Given the description of an element on the screen output the (x, y) to click on. 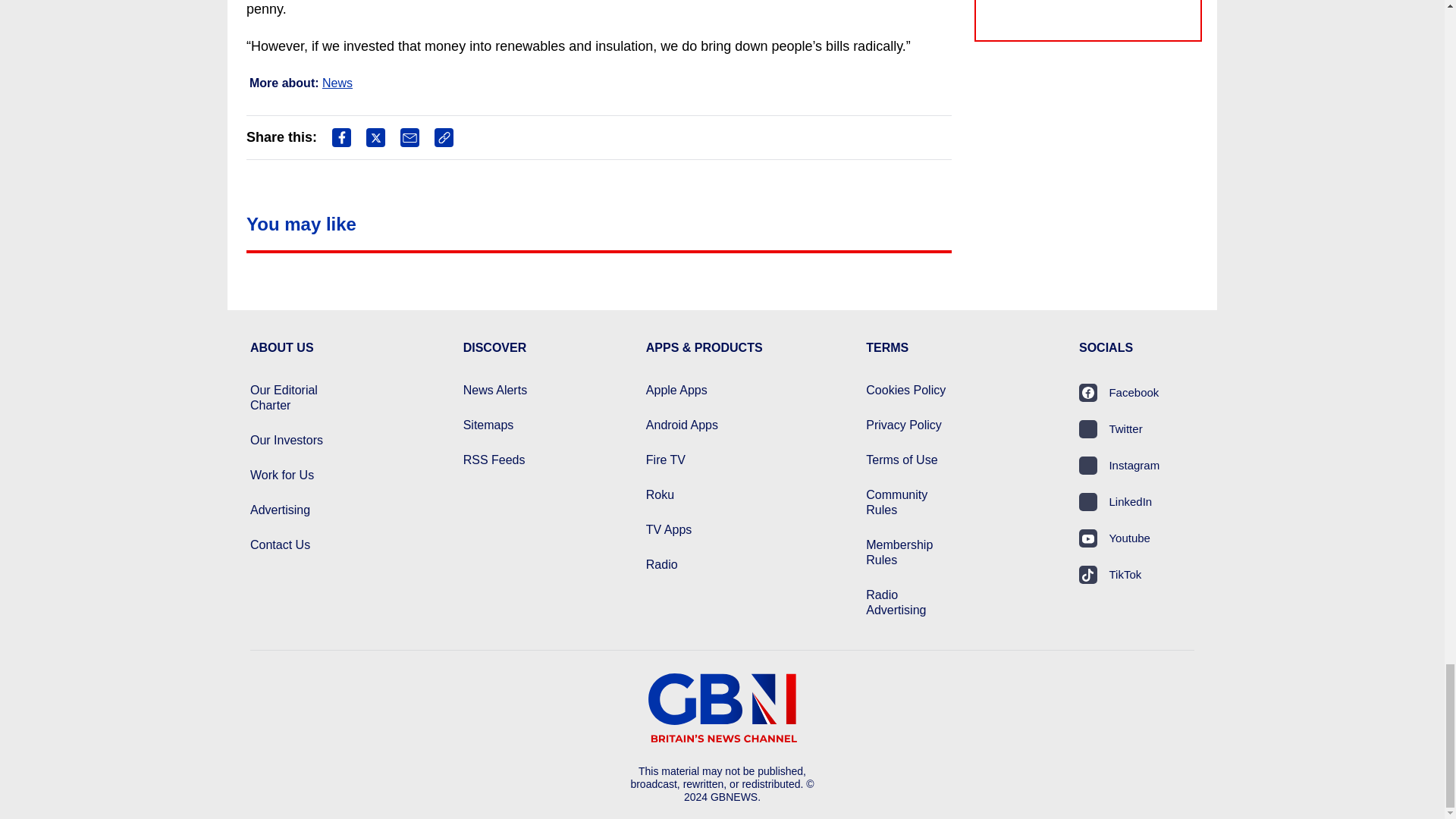
Copy this link to clipboard (442, 137)
